Given the description of an element on the screen output the (x, y) to click on. 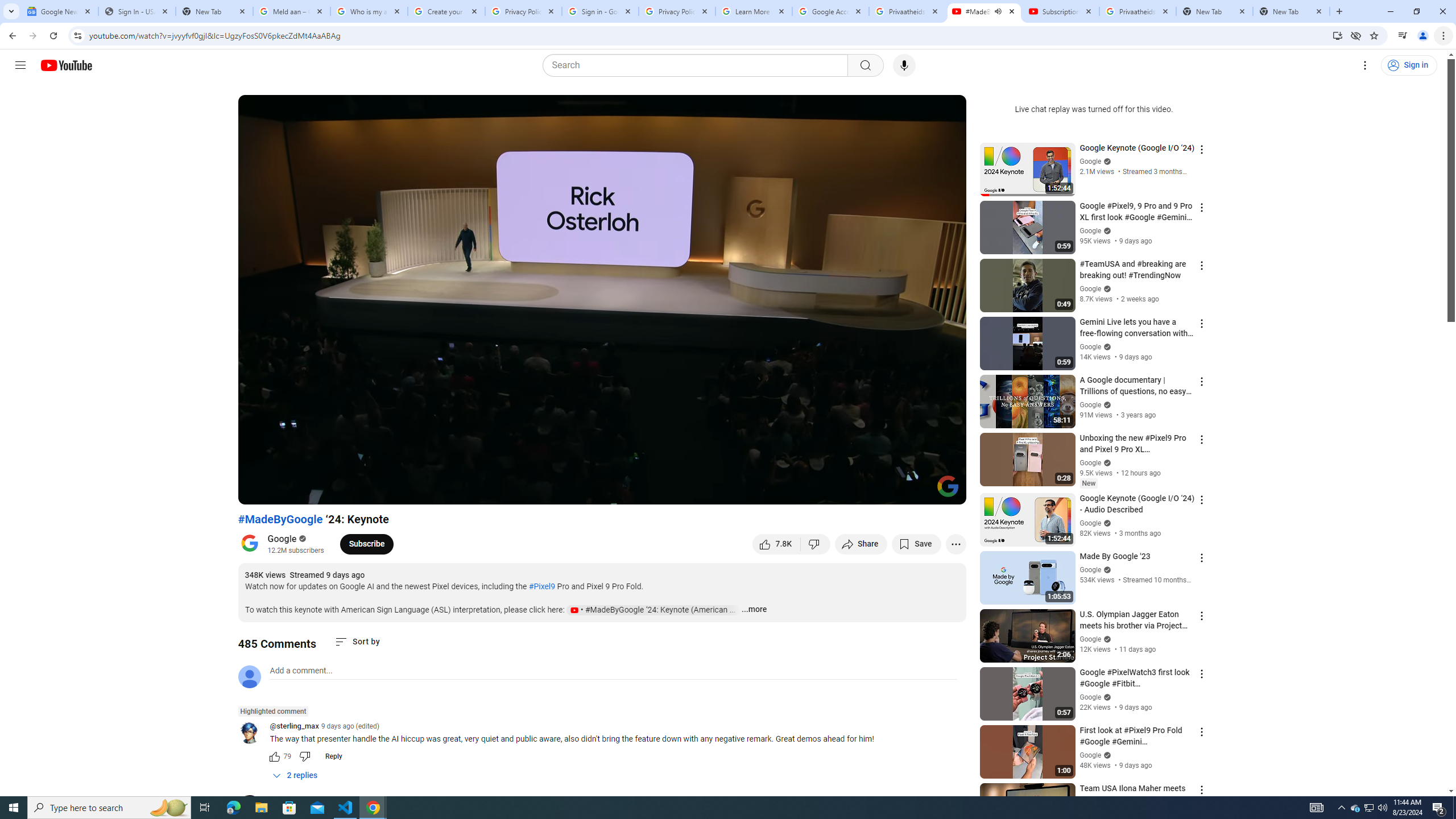
Subscribe to Google. (366, 543)
Settings (1365, 65)
#MadeByGoogle (280, 519)
Search with your voice (903, 65)
